Given the description of an element on the screen output the (x, y) to click on. 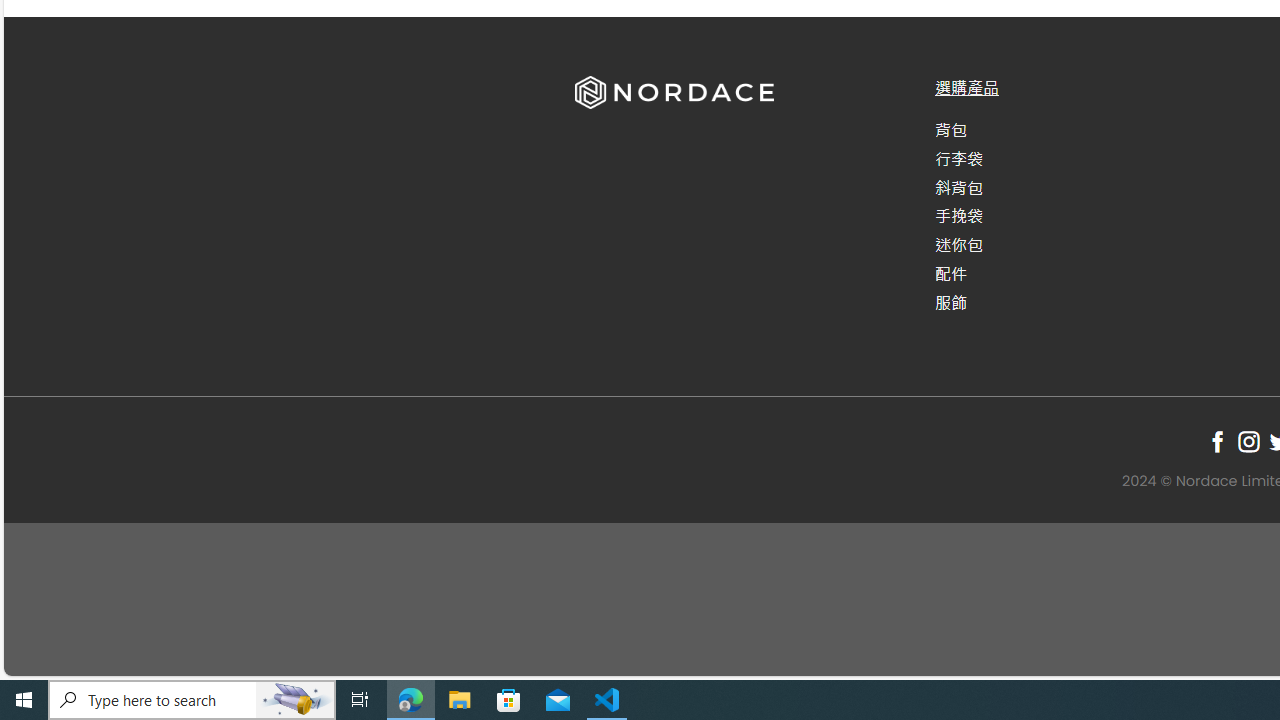
Follow on Instagram (1248, 441)
Follow on Facebook (1217, 441)
